Given the description of an element on the screen output the (x, y) to click on. 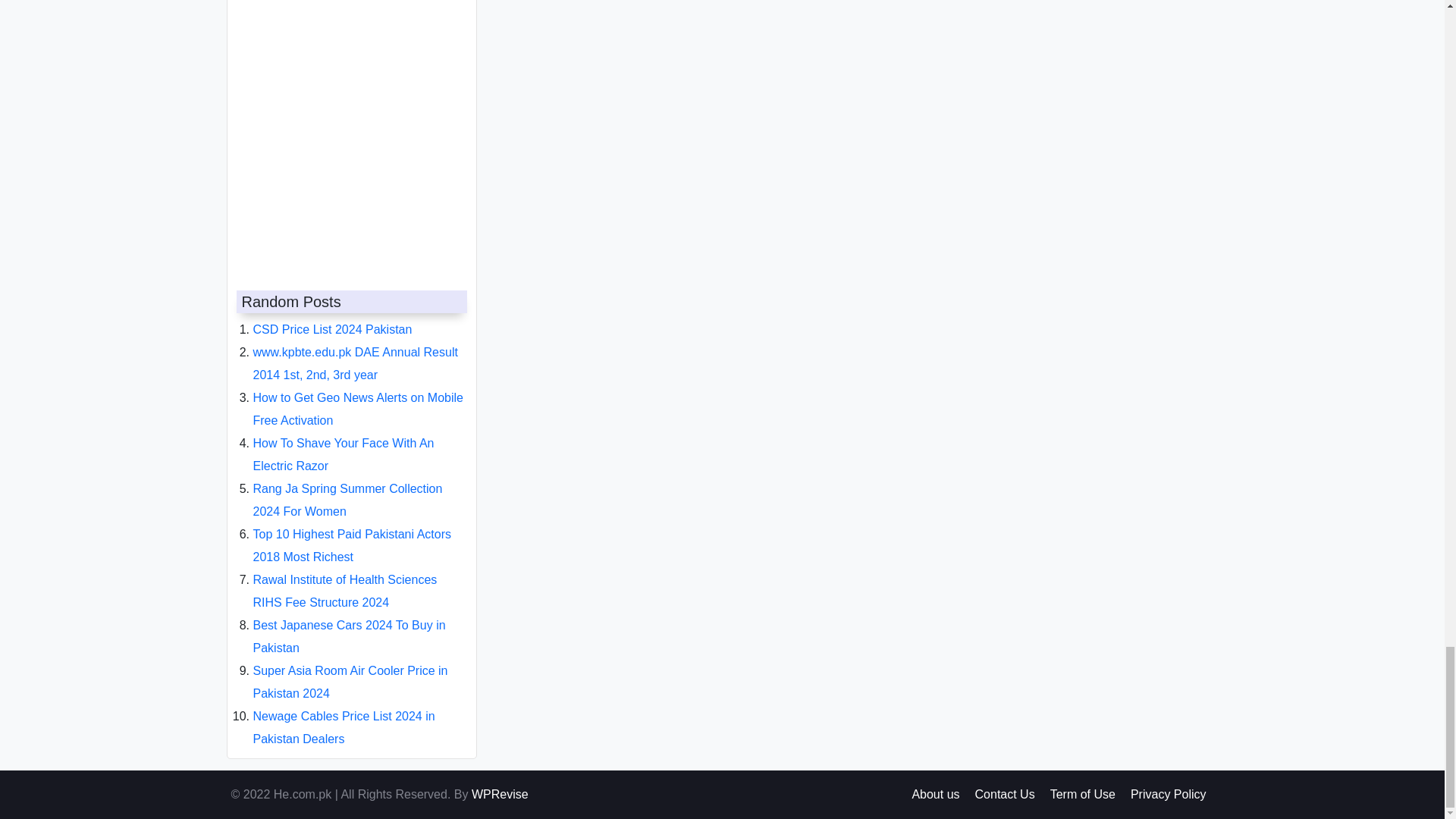
www.kpbte.edu.pk DAE Annual Result 2014 1st, 2nd, 3rd year (355, 351)
Rang Ja Spring Summer Collection 2024 For Women (347, 488)
Rawal Institute of Health Sciences RIHS Fee Structure 2024 (345, 579)
WPRevise (499, 793)
How to Get Geo News Alerts on Mobile Free Activation (358, 396)
How To Shave Your Face With An Electric Razor (343, 442)
CSD Price List 2024 Pakistan (332, 317)
Newage Cables Price List 2024 in Pakistan Dealers (344, 715)
Top 10 Highest Paid Pakistani Actors 2018 Most Richest (352, 533)
Super Asia Room Air Cooler Price in Pakistan 2024 (350, 669)
Best Japanese Cars 2024 To Buy in Pakistan (349, 624)
